Given the description of an element on the screen output the (x, y) to click on. 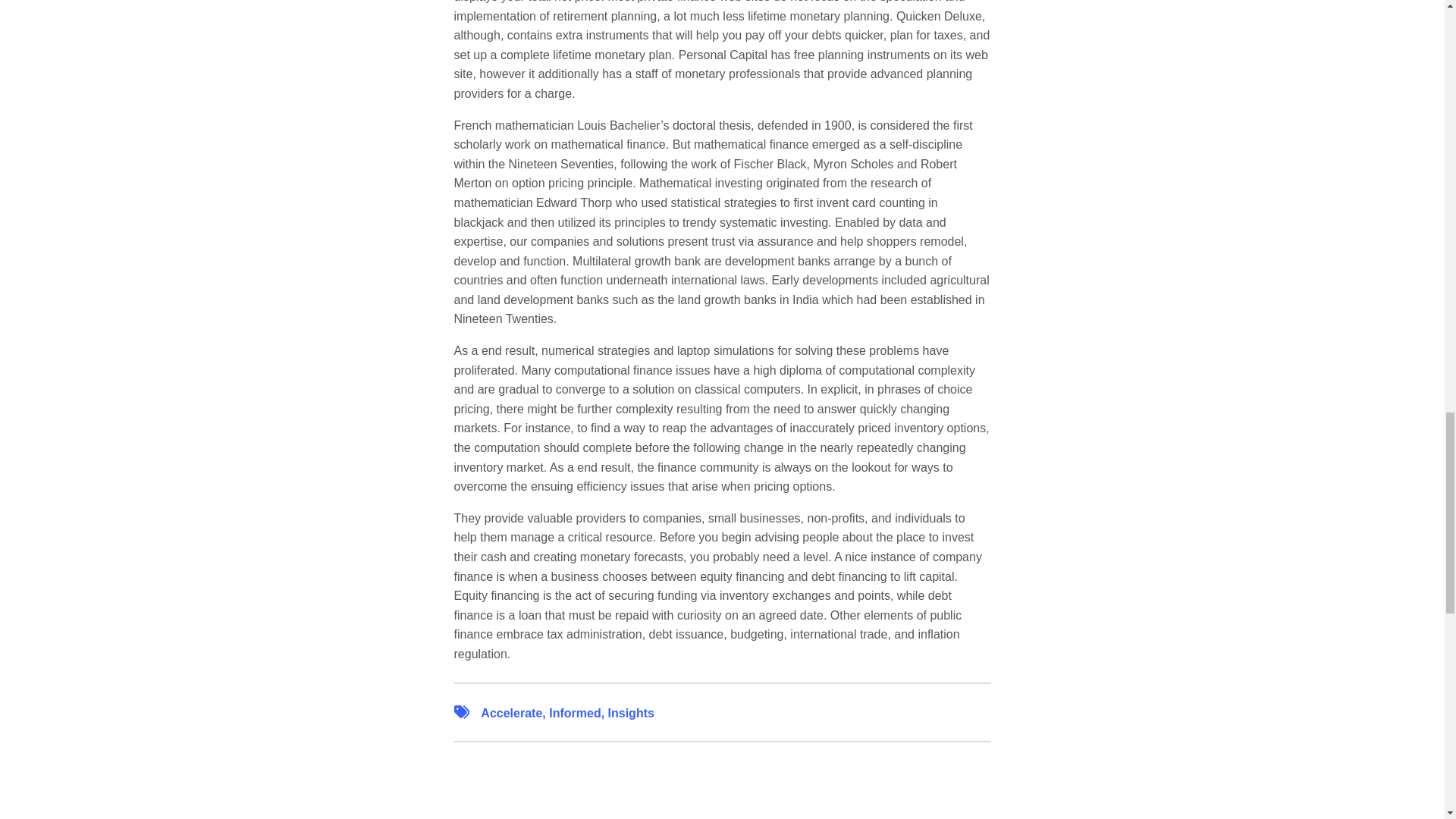
Informed (573, 712)
Insights (630, 712)
Accelerate (510, 712)
